Given the description of an element on the screen output the (x, y) to click on. 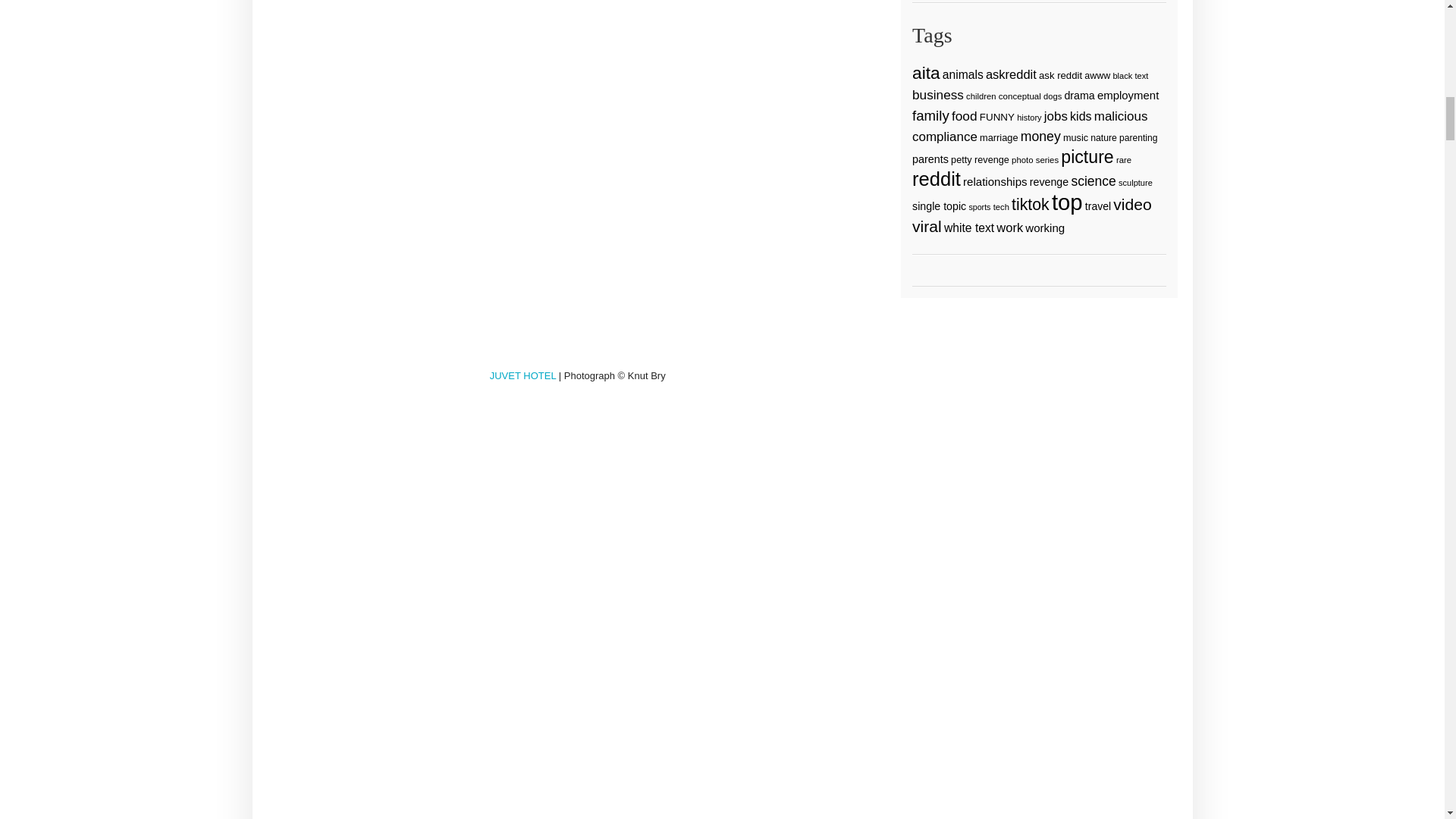
JUVET HOTEL (522, 375)
